Given the description of an element on the screen output the (x, y) to click on. 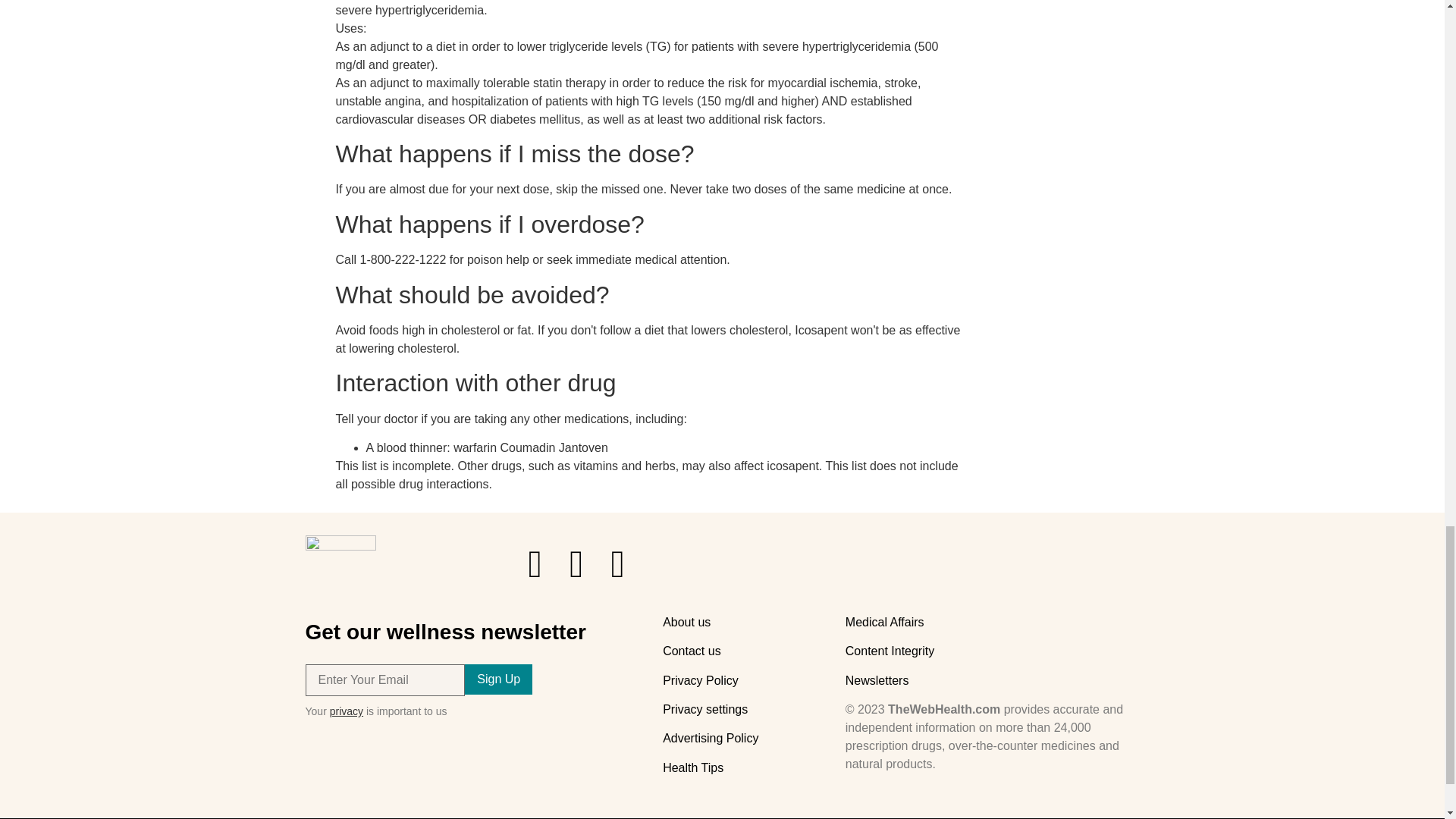
Sign Up (498, 679)
privacy (346, 711)
Sign Up (498, 679)
